Given the description of an element on the screen output the (x, y) to click on. 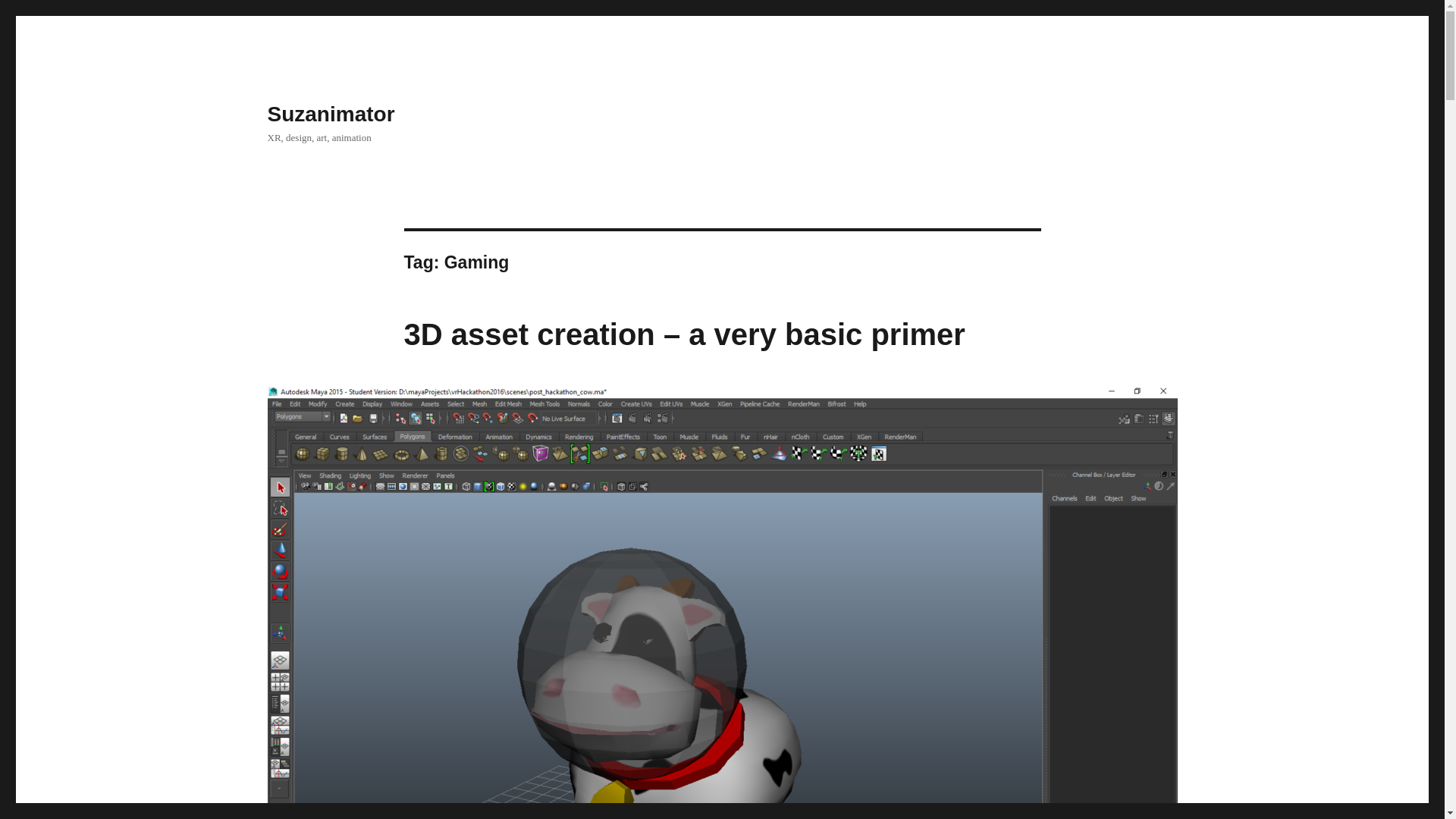
Suzanimator (330, 114)
